Given the description of an element on the screen output the (x, y) to click on. 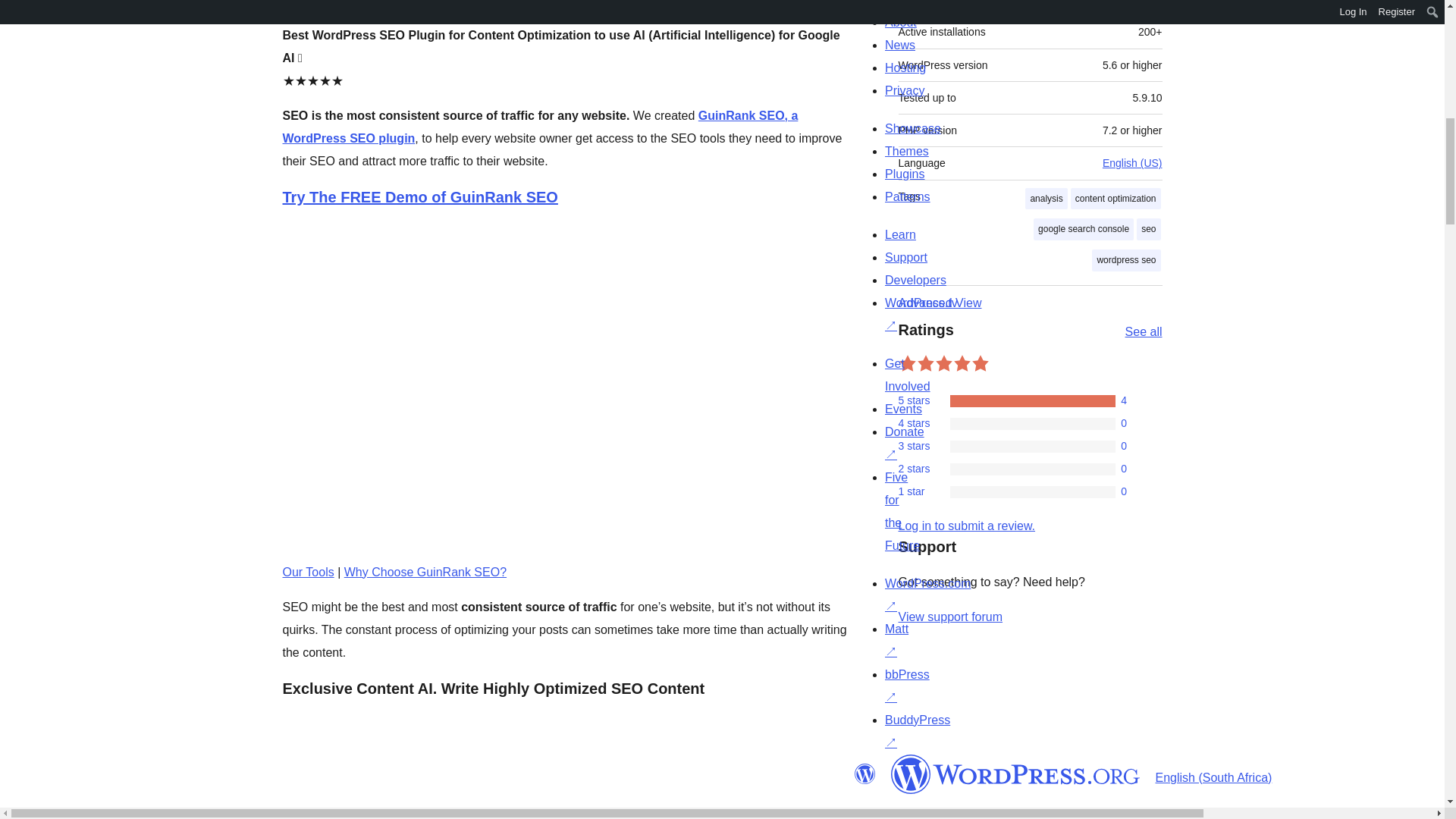
WordPress.org (1014, 773)
Try The FREE Demo of GuinRank SEO (419, 197)
GuinRank SEO, a WordPress SEO plugin (539, 126)
Why Choose GuinRank SEO? (424, 571)
WordPress.org (864, 773)
Log in to WordPress.org (966, 525)
Our Tools (307, 571)
